Given the description of an element on the screen output the (x, y) to click on. 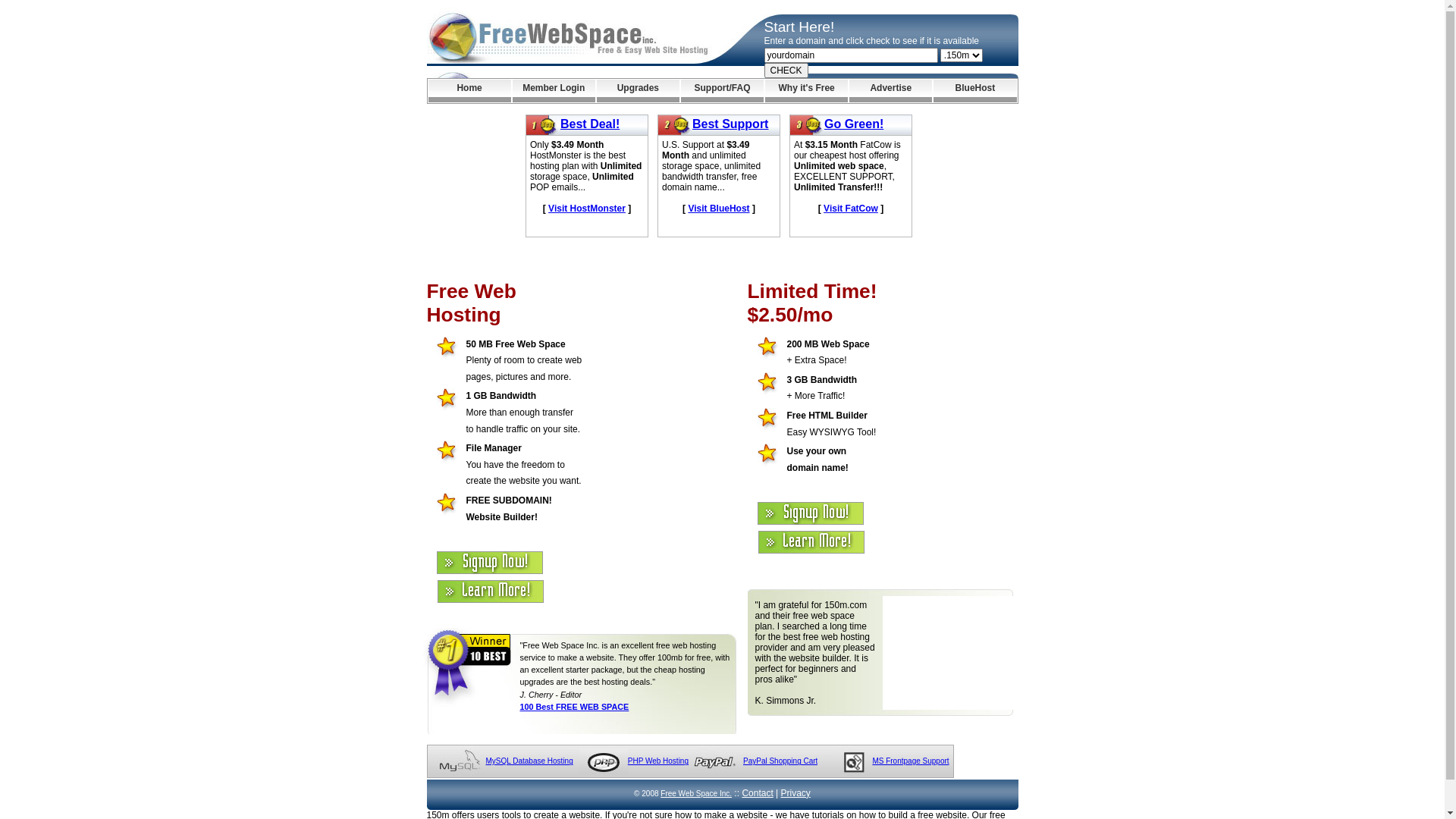
100 Best FREE WEB SPACE Element type: text (574, 706)
Free Web Space Inc. Element type: text (695, 793)
PayPal Shopping Cart Element type: text (780, 760)
Advertise Element type: text (890, 90)
PHP Web Hosting Element type: text (657, 760)
Member Login Element type: text (553, 90)
BlueHost Element type: text (974, 90)
Support/FAQ Element type: text (721, 90)
Contact Element type: text (756, 792)
Privacy Element type: text (795, 792)
CHECK Element type: text (786, 70)
MySQL Database Hosting Element type: text (528, 760)
Why it's Free Element type: text (806, 90)
Upgrades Element type: text (637, 90)
Home Element type: text (468, 90)
MS Frontpage Support Element type: text (910, 760)
